Given the description of an element on the screen output the (x, y) to click on. 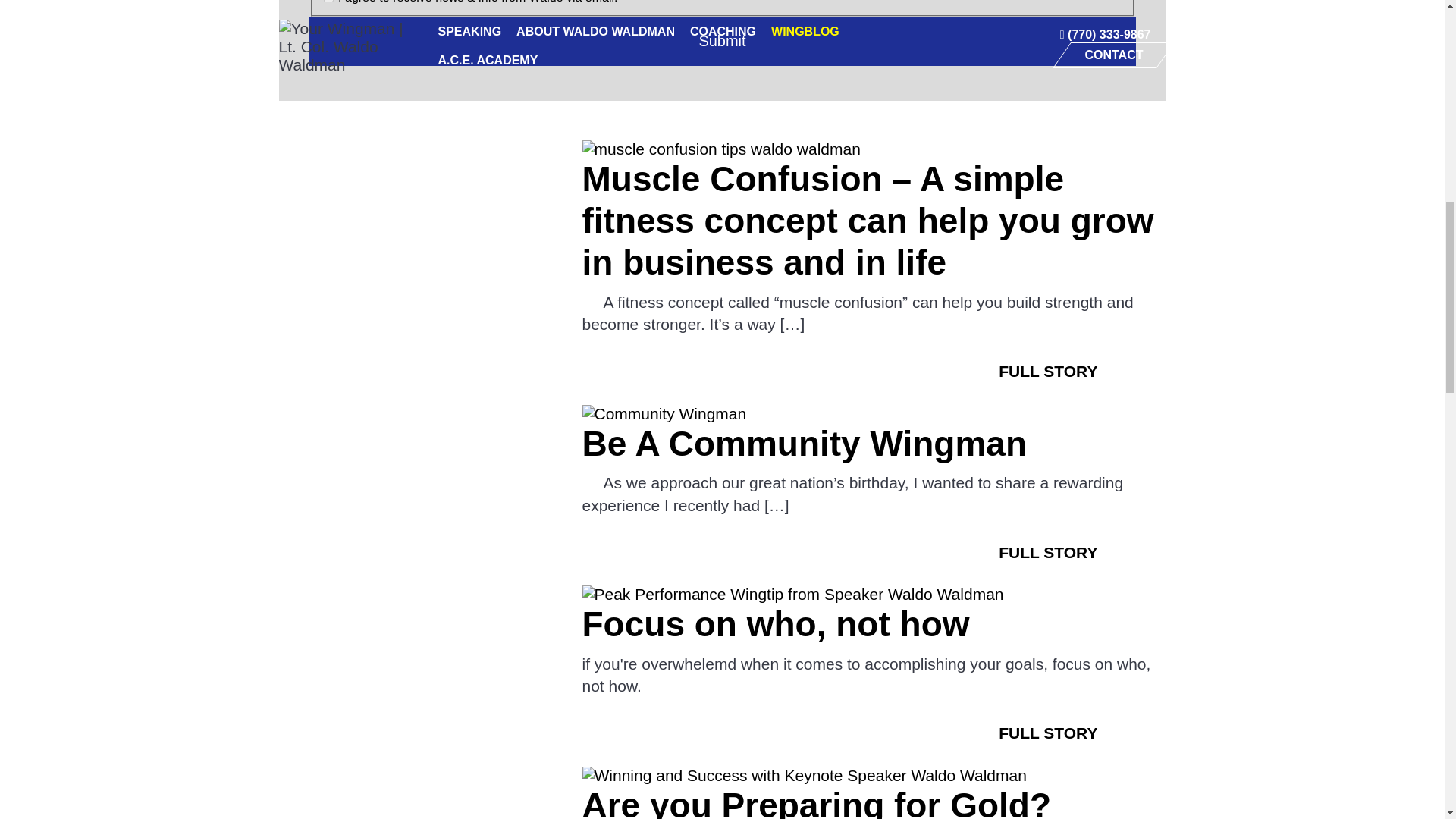
Submit (721, 41)
FULL STORY (1047, 552)
Full Story (1047, 732)
Focus on who, not how (775, 623)
Full Story (1047, 552)
FULL STORY (1047, 371)
Submit (721, 41)
Full Story (1047, 371)
Be A Community Wingman (804, 443)
Are you Preparing for Gold? (816, 802)
FULL STORY (1047, 732)
